Given the description of an element on the screen output the (x, y) to click on. 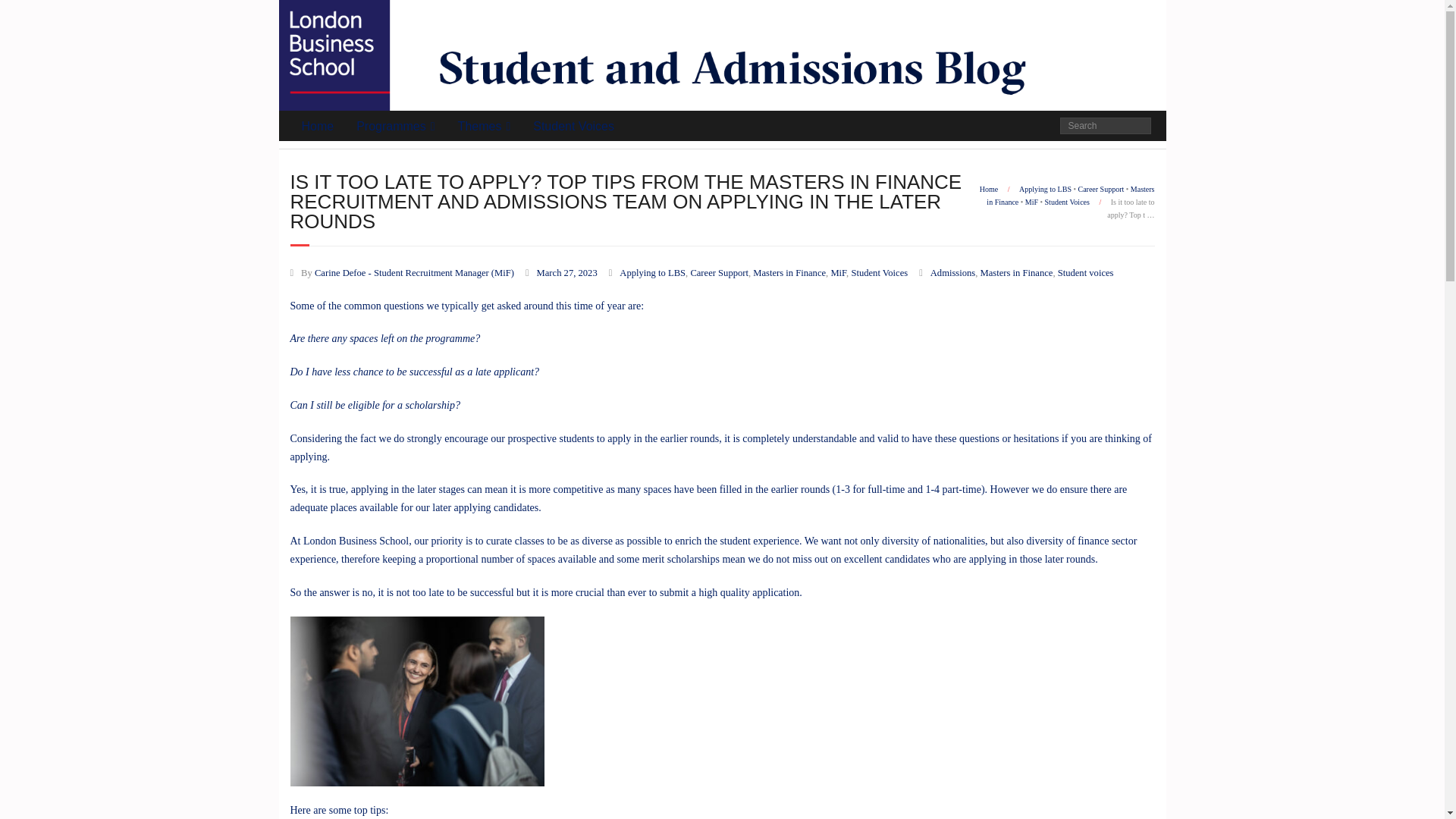
Applying to LBS (652, 272)
Home (317, 125)
Programmes (395, 125)
Career Support (719, 272)
Student voices (1085, 272)
Masters in Finance (1015, 272)
Applying to LBS (1045, 189)
Student Voices (878, 272)
Search (25, 13)
Home (988, 189)
Admissions (952, 272)
Masters in Finance (1070, 195)
March 27, 2023 (566, 272)
Career Support (1100, 189)
